Given the description of an element on the screen output the (x, y) to click on. 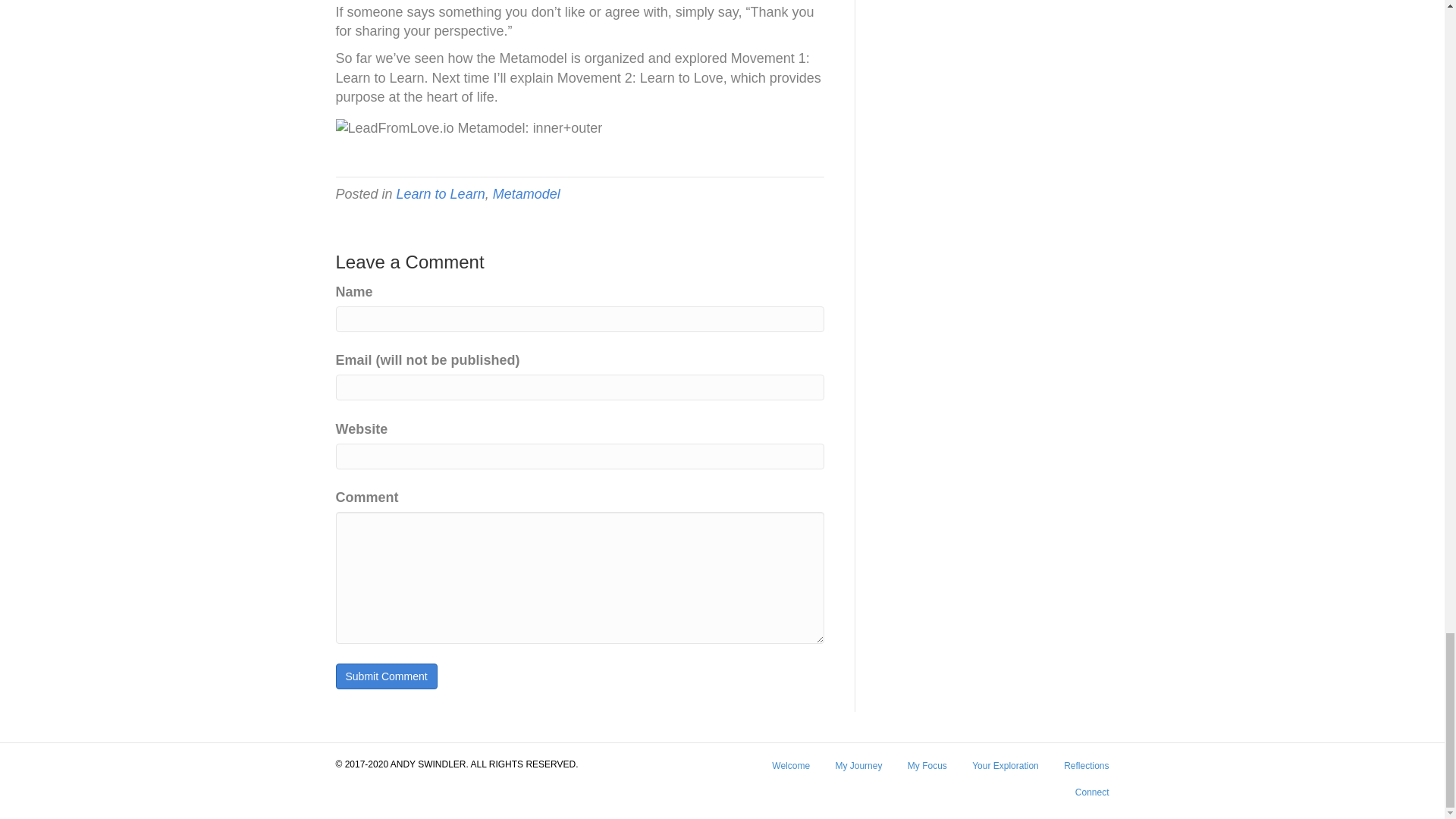
Connect (1092, 797)
Your Exploration (1004, 771)
Learn to Learn (440, 193)
My Journey (858, 771)
Submit Comment (385, 676)
Welcome (790, 771)
Reflections (1085, 771)
Submit Comment (385, 676)
Metamodel (526, 193)
My Focus (927, 771)
